Given the description of an element on the screen output the (x, y) to click on. 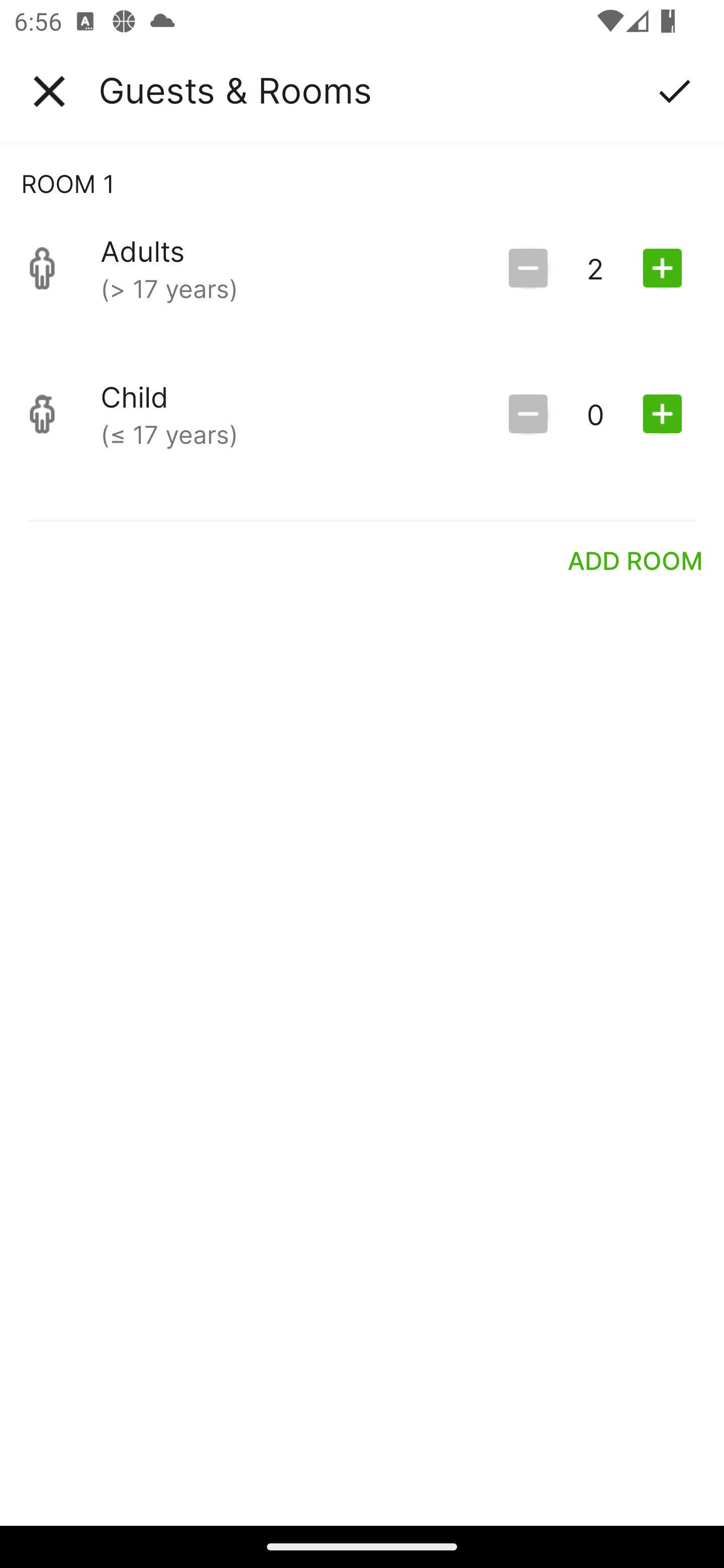
ADD ROOM (635, 560)
